Given the description of an element on the screen output the (x, y) to click on. 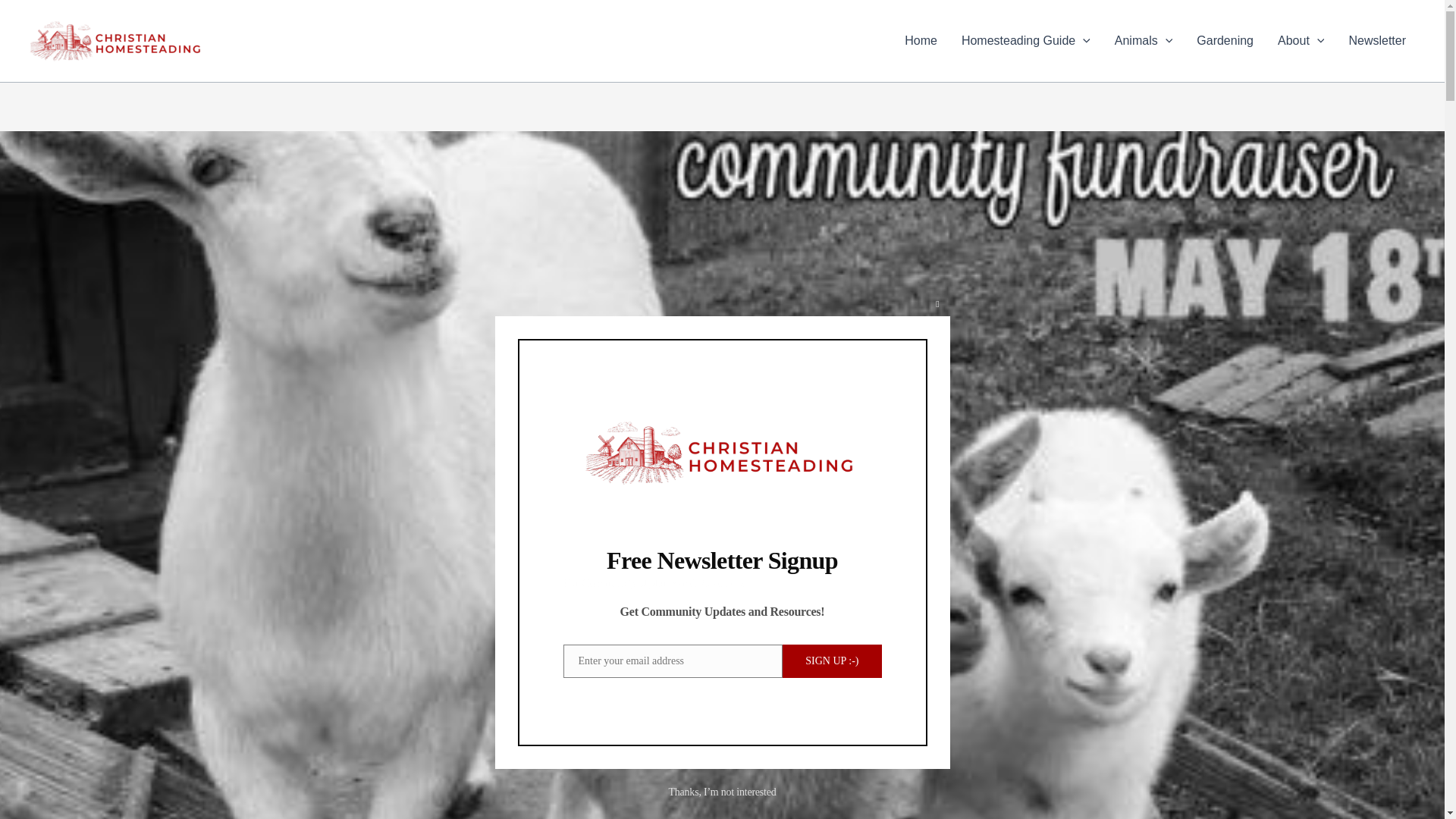
Homesteading Guide (1025, 40)
Newsletter (1377, 40)
About (1300, 40)
Animals (1143, 40)
Gardening (1225, 40)
Home (920, 40)
